Given the description of an element on the screen output the (x, y) to click on. 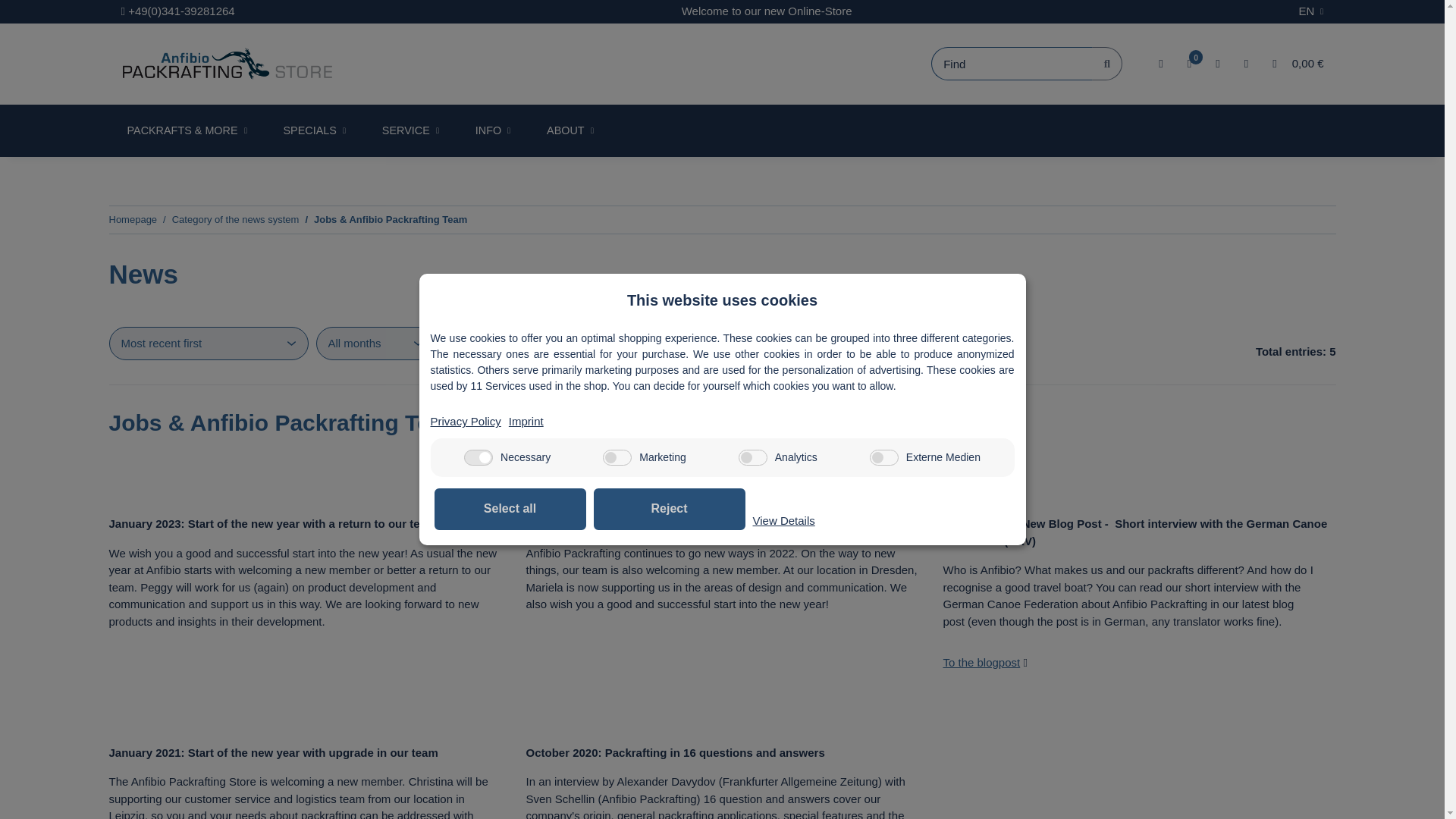
Welcome to our new Online-Store (766, 11)
0 (1195, 56)
ABOUT (569, 131)
on (616, 457)
on (752, 457)
on (883, 457)
About (569, 131)
EN (1311, 11)
SPECIALS (314, 131)
Info (492, 131)
Specials (314, 131)
Anfibio Packrafting Store (226, 62)
Service (410, 131)
INFO (492, 131)
SERVICE (410, 131)
